Given the description of an element on the screen output the (x, y) to click on. 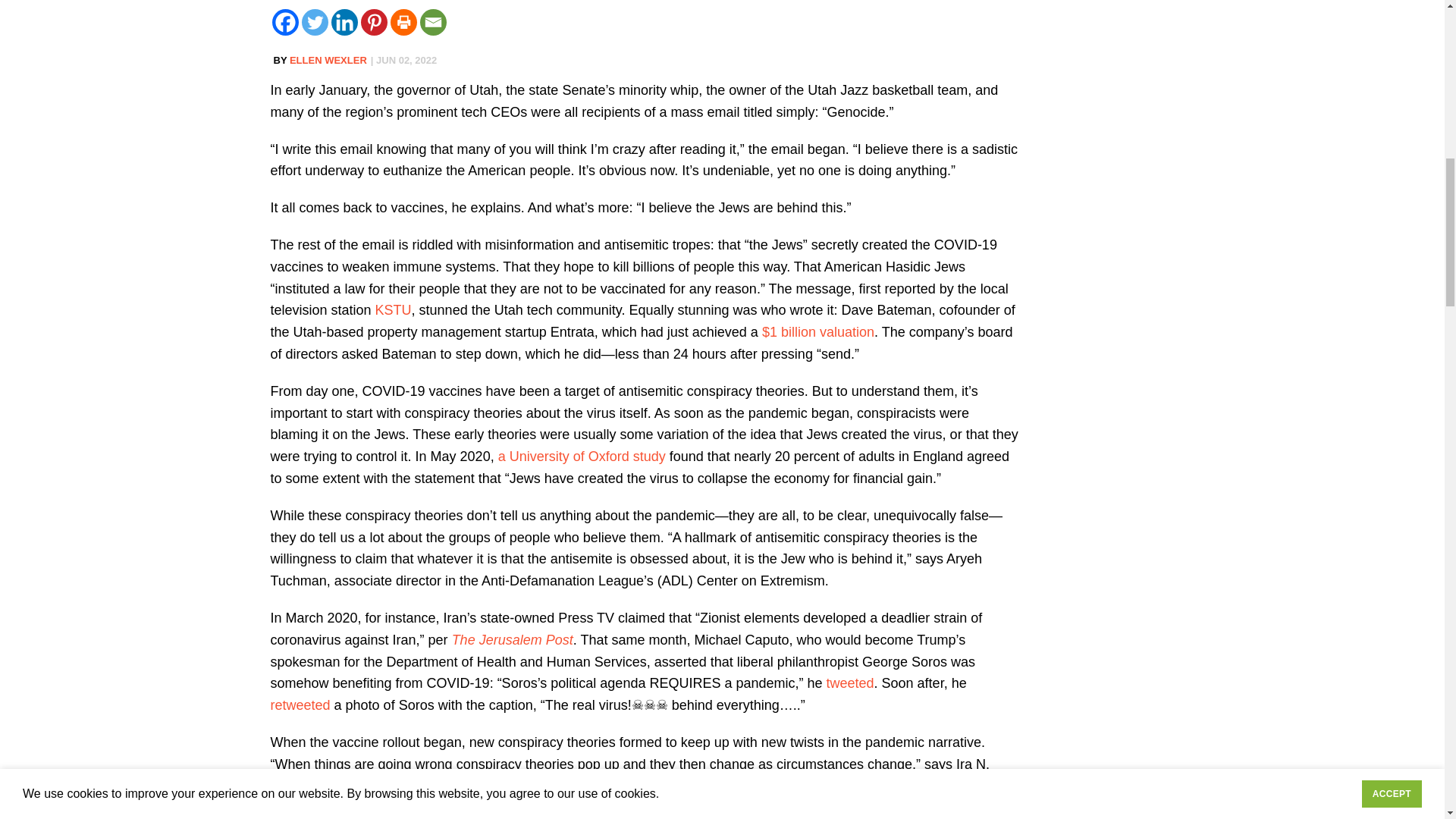
Pinterest (374, 22)
Posts by Ellen Wexler (327, 60)
Facebook (284, 22)
Email (433, 22)
Twitter (315, 22)
Linkedin (343, 22)
Print (403, 22)
